Given the description of an element on the screen output the (x, y) to click on. 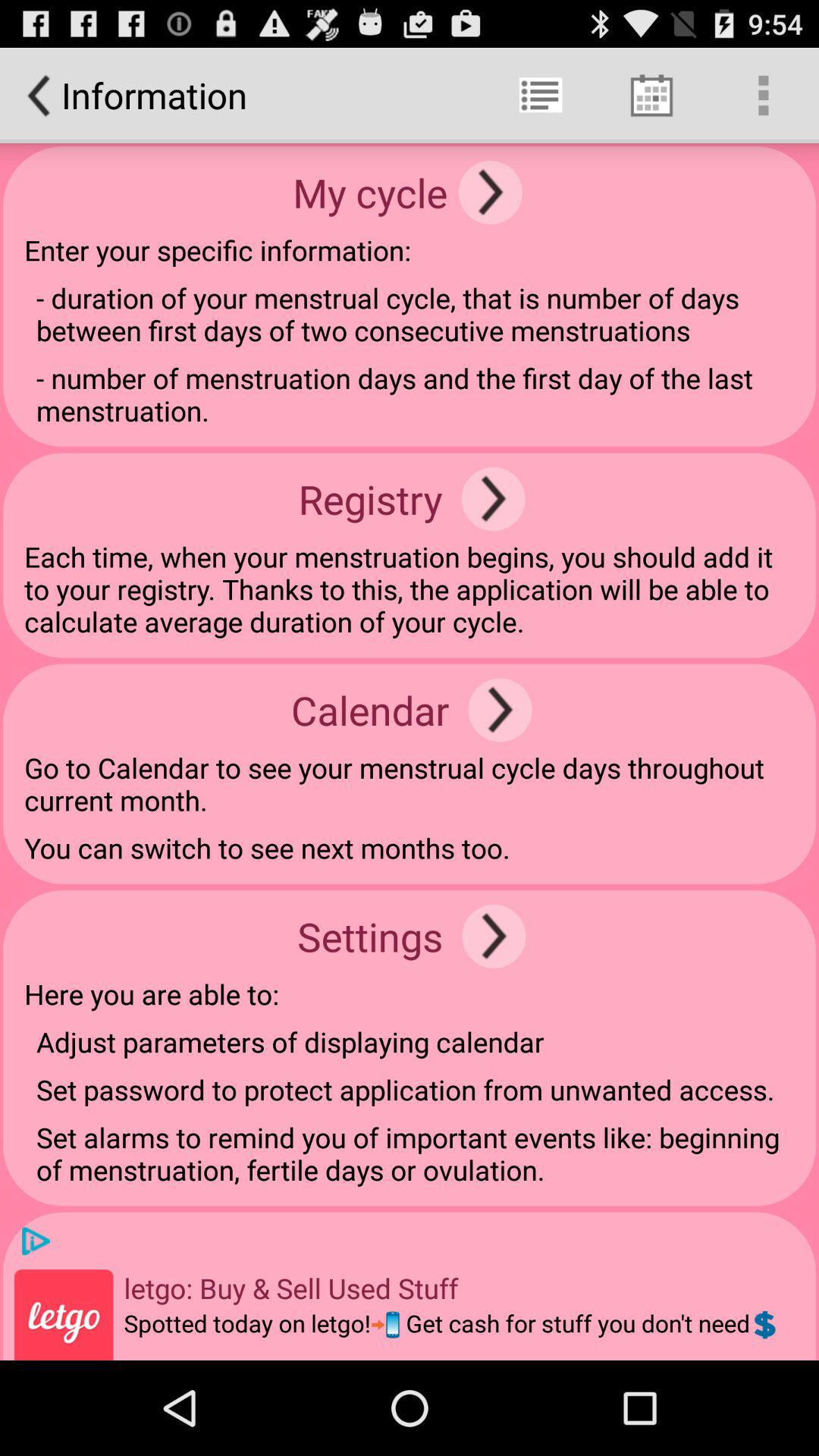
turn on the item below you can switch app (493, 936)
